Given the description of an element on the screen output the (x, y) to click on. 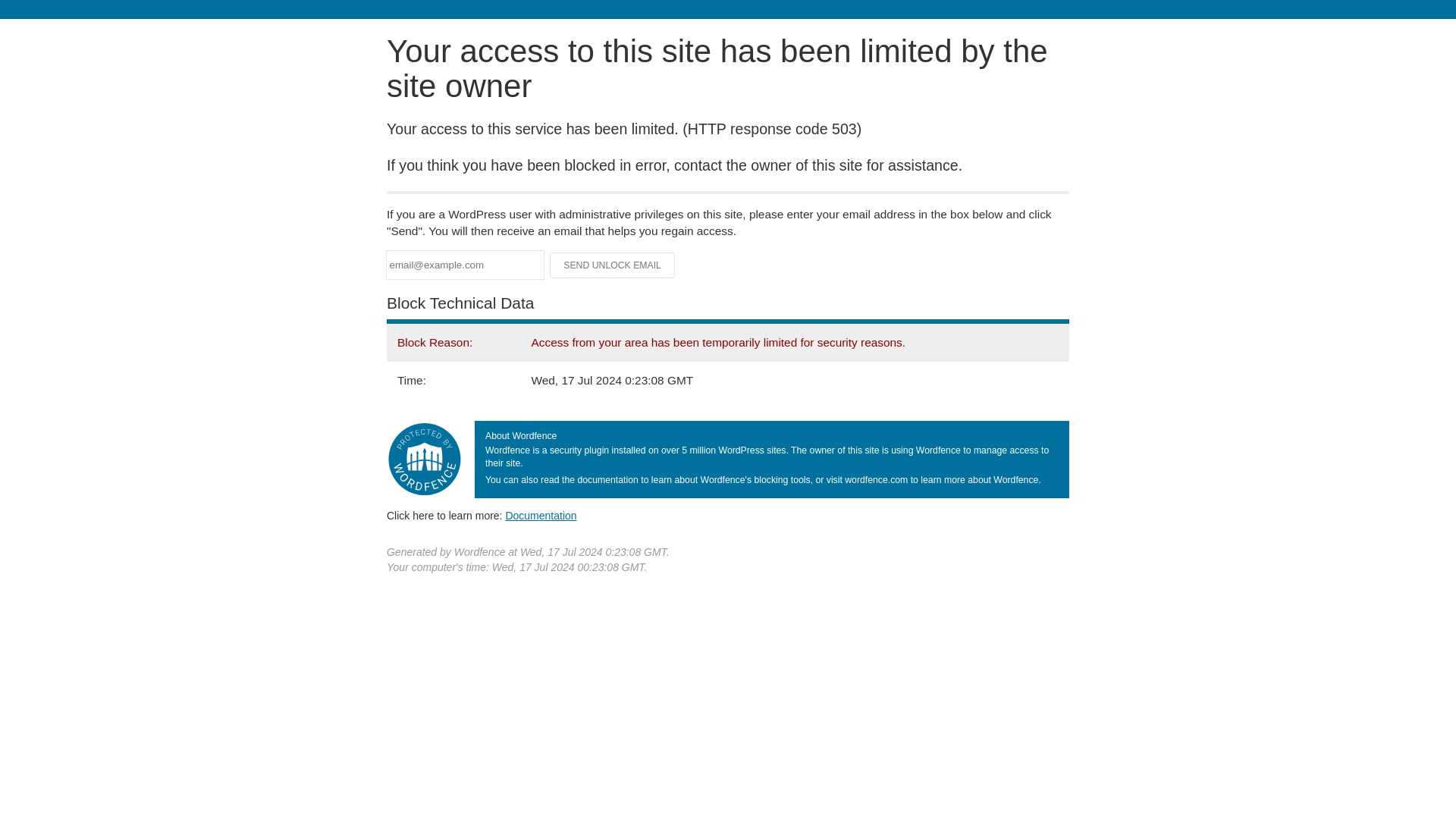
Send Unlock Email (612, 265)
Send Unlock Email (612, 265)
Documentation (540, 515)
